Given the description of an element on the screen output the (x, y) to click on. 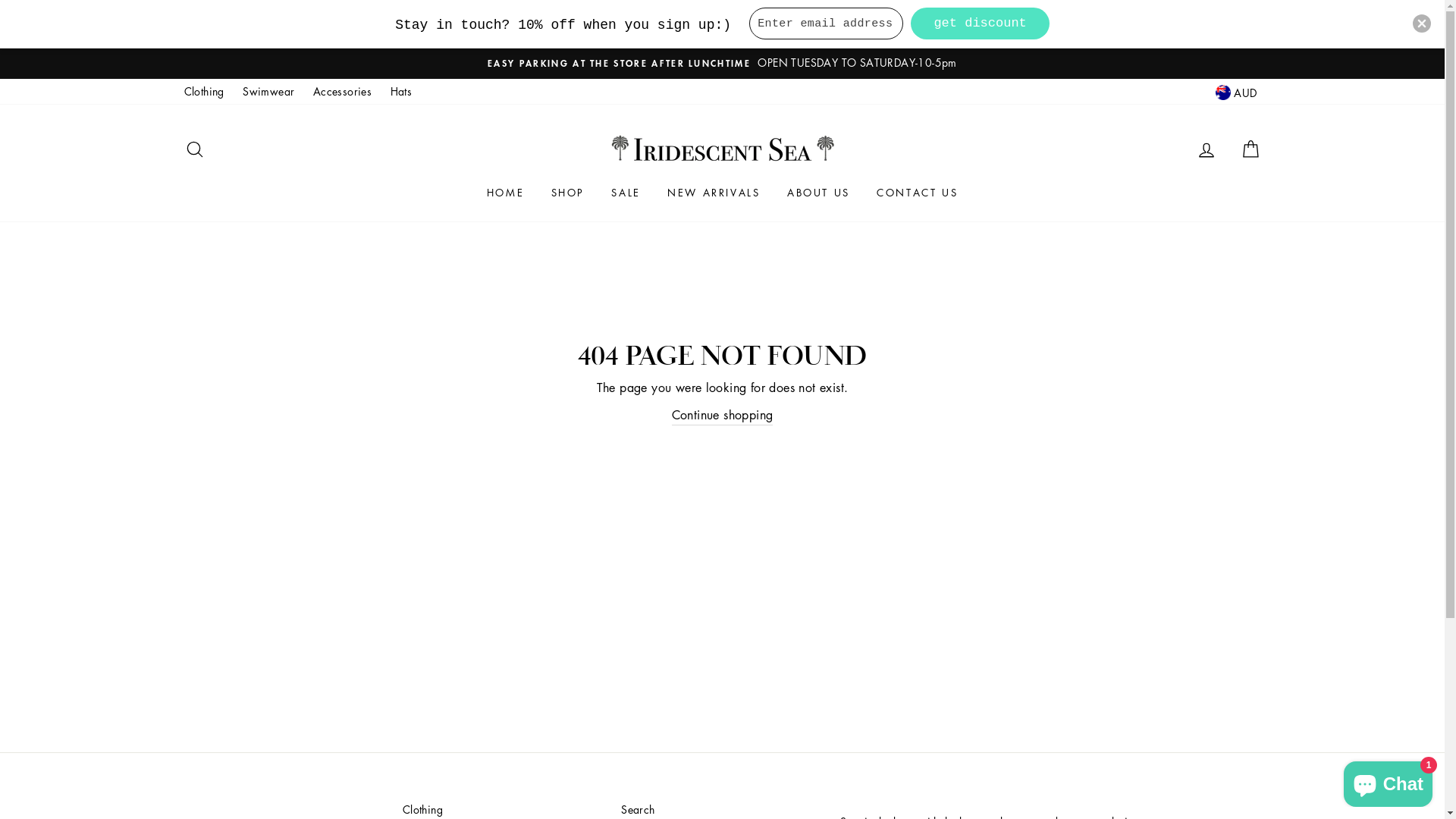
Swimwear Element type: text (268, 91)
SALE Element type: text (625, 192)
SEARCH Element type: text (193, 149)
AUD Element type: text (1235, 91)
Continue shopping Element type: text (722, 415)
LOG IN Element type: text (1206, 149)
HOME Element type: text (505, 192)
get discount Element type: text (979, 23)
CONTACT US Element type: text (917, 192)
Shopify online store chat Element type: hover (1388, 780)
Clothing Element type: text (203, 91)
ABOUT US Element type: text (818, 192)
NEW ARRIVALS Element type: text (713, 192)
SHOP Element type: text (567, 192)
Accessories Element type: text (342, 91)
Close Element type: hover (1421, 23)
Skip to content Element type: text (0, 45)
CART Element type: text (1249, 149)
Hats Element type: text (401, 91)
